Given the description of an element on the screen output the (x, y) to click on. 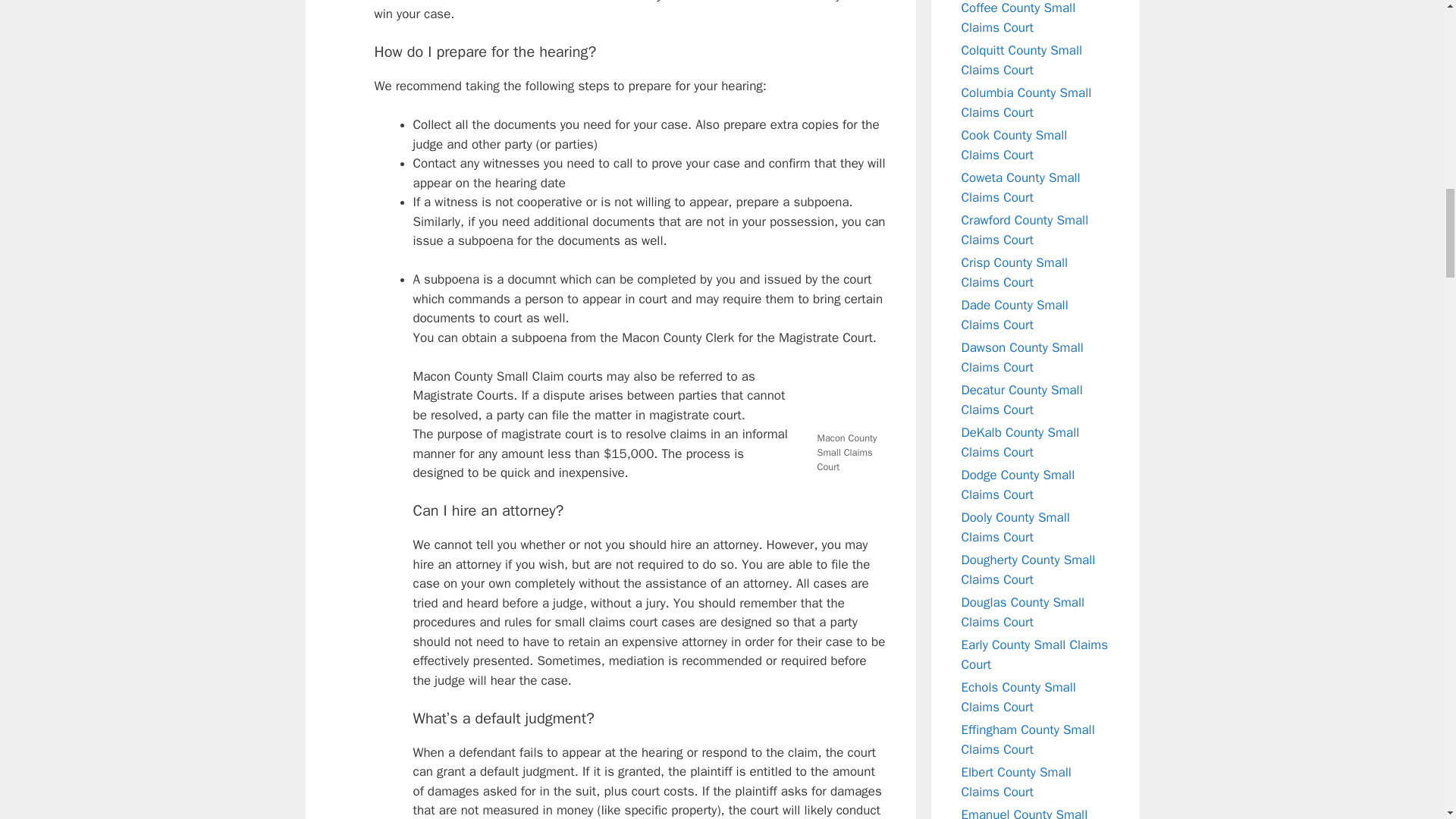
Macon County Small Claims Court (846, 396)
